Given the description of an element on the screen output the (x, y) to click on. 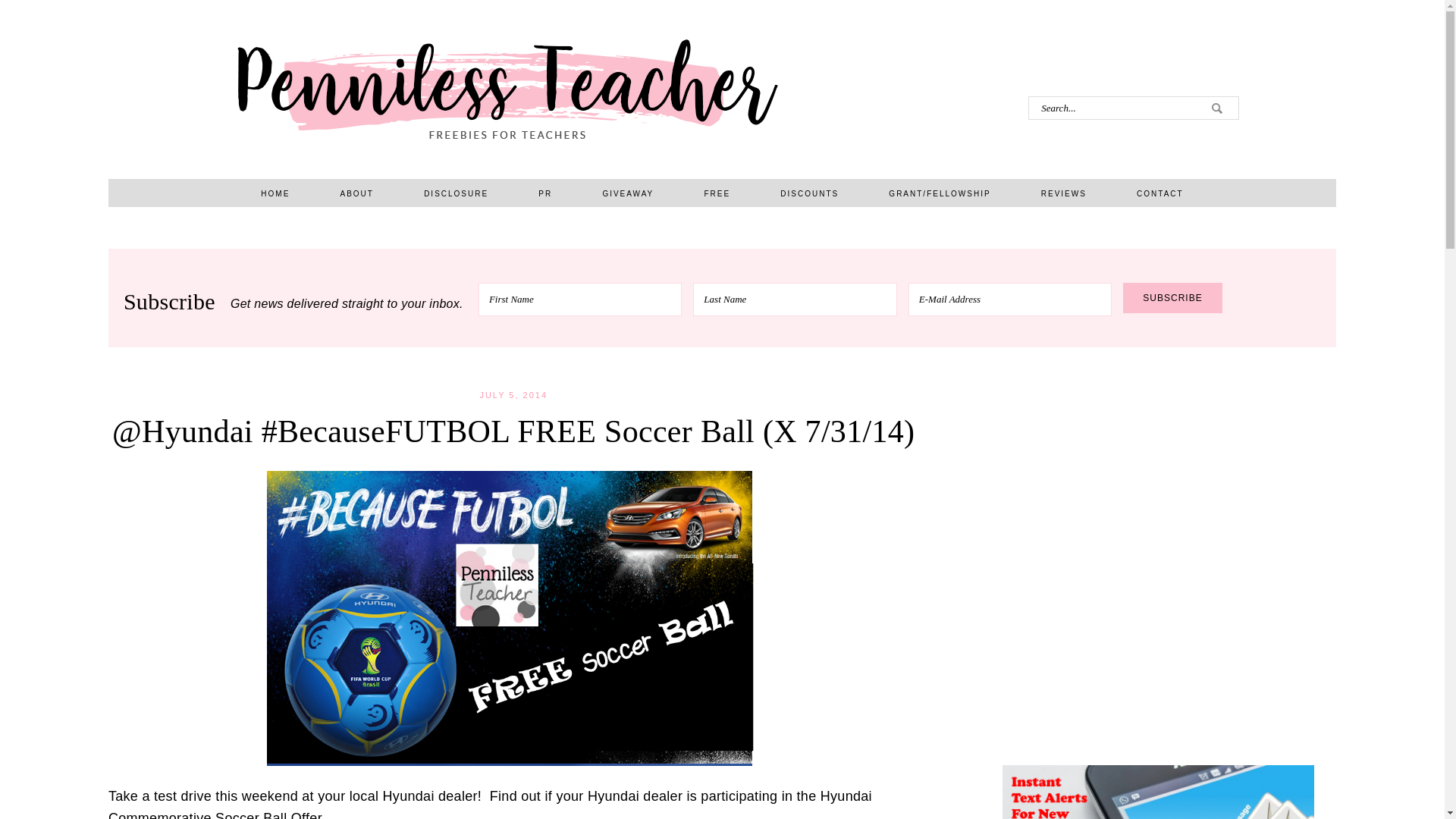
GIVEAWAY (628, 193)
Subscribe (1171, 297)
CONTACT (1160, 193)
Advertisement (1157, 582)
PR (545, 193)
Penniless Teacher (507, 88)
HOME (275, 193)
Penniless Teacher (507, 88)
ABOUT (356, 193)
REVIEWS (1063, 193)
DISCLOSURE (456, 193)
FREE (716, 193)
